Given the description of an element on the screen output the (x, y) to click on. 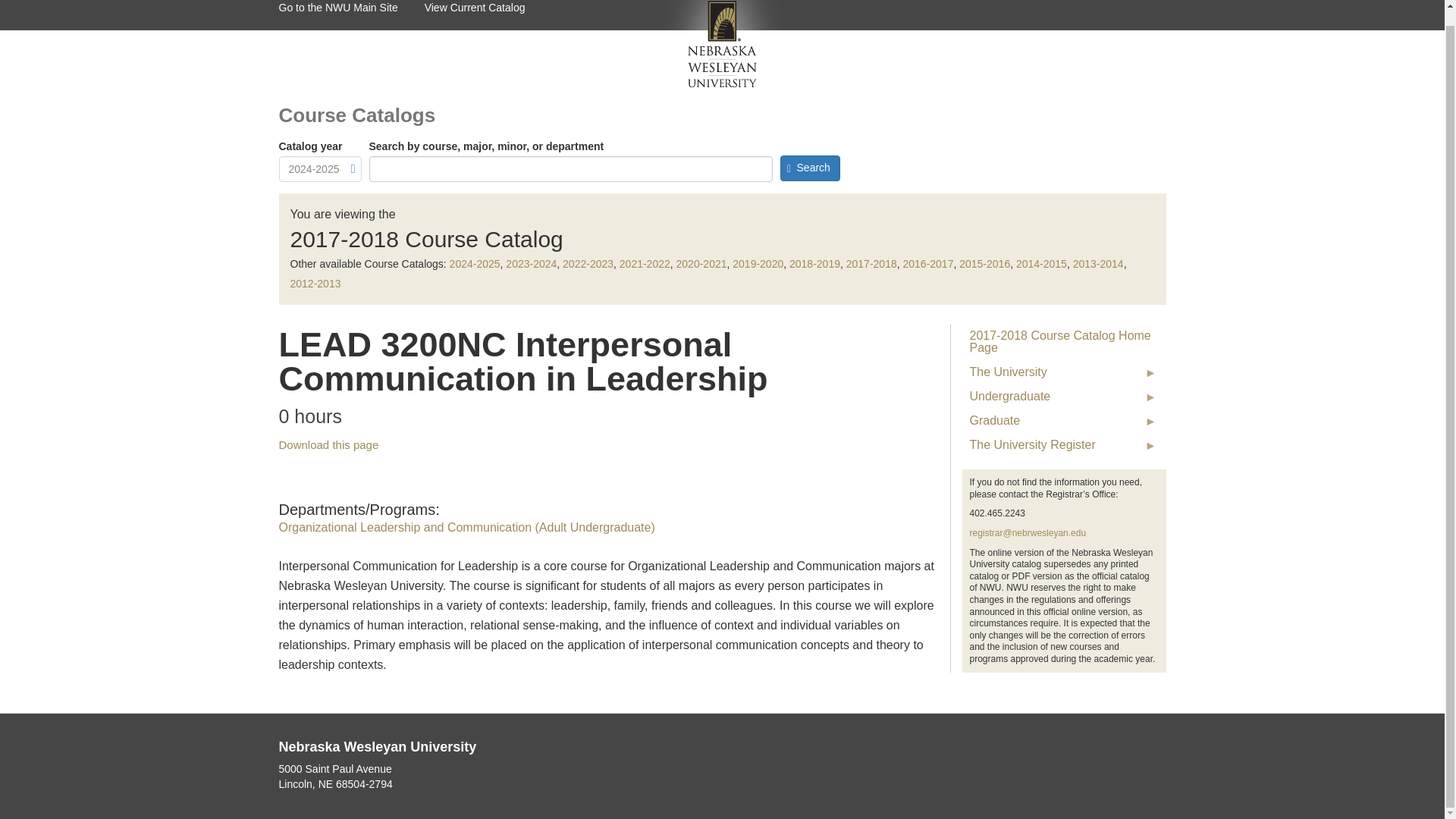
2022-2023 (587, 263)
Search (809, 167)
2018-2019 (814, 263)
Go to the NWU Main Site (352, 15)
2021-2022 (644, 263)
2014-2015 (1041, 263)
2012-2013 (314, 283)
2013-2014 (1098, 263)
2017-2018 Course Catalog Home Page (1063, 341)
2016-2017 (927, 263)
2019-2020 (757, 263)
View Current Catalog (488, 15)
Download this page (328, 444)
2023-2024 (530, 263)
2020-2021 (701, 263)
